Given the description of an element on the screen output the (x, y) to click on. 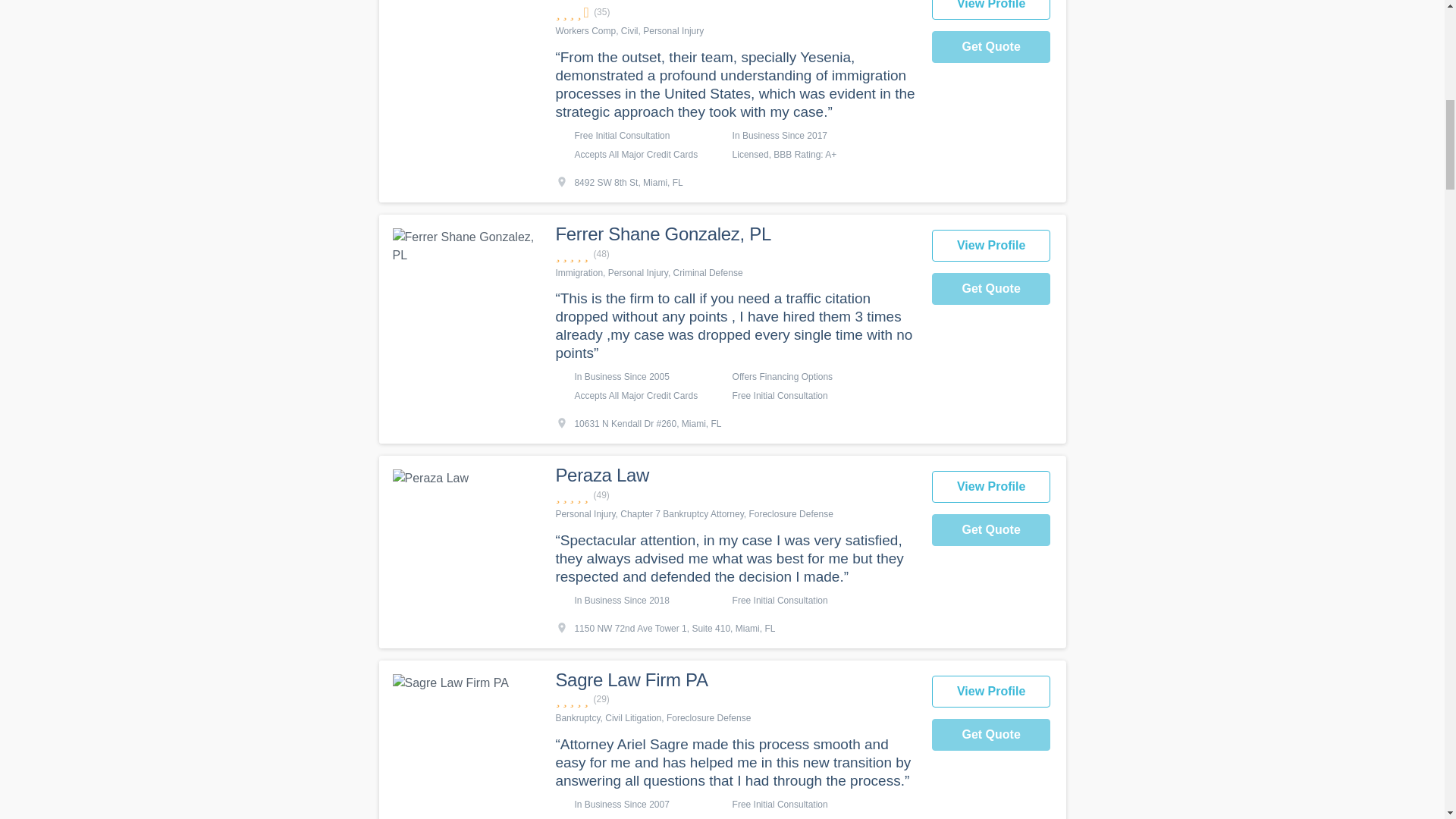
4.1 (734, 11)
5.0 (734, 495)
Get Quote (991, 47)
Get Quote (991, 288)
4.9 (734, 254)
5.0 (734, 699)
